Given the description of an element on the screen output the (x, y) to click on. 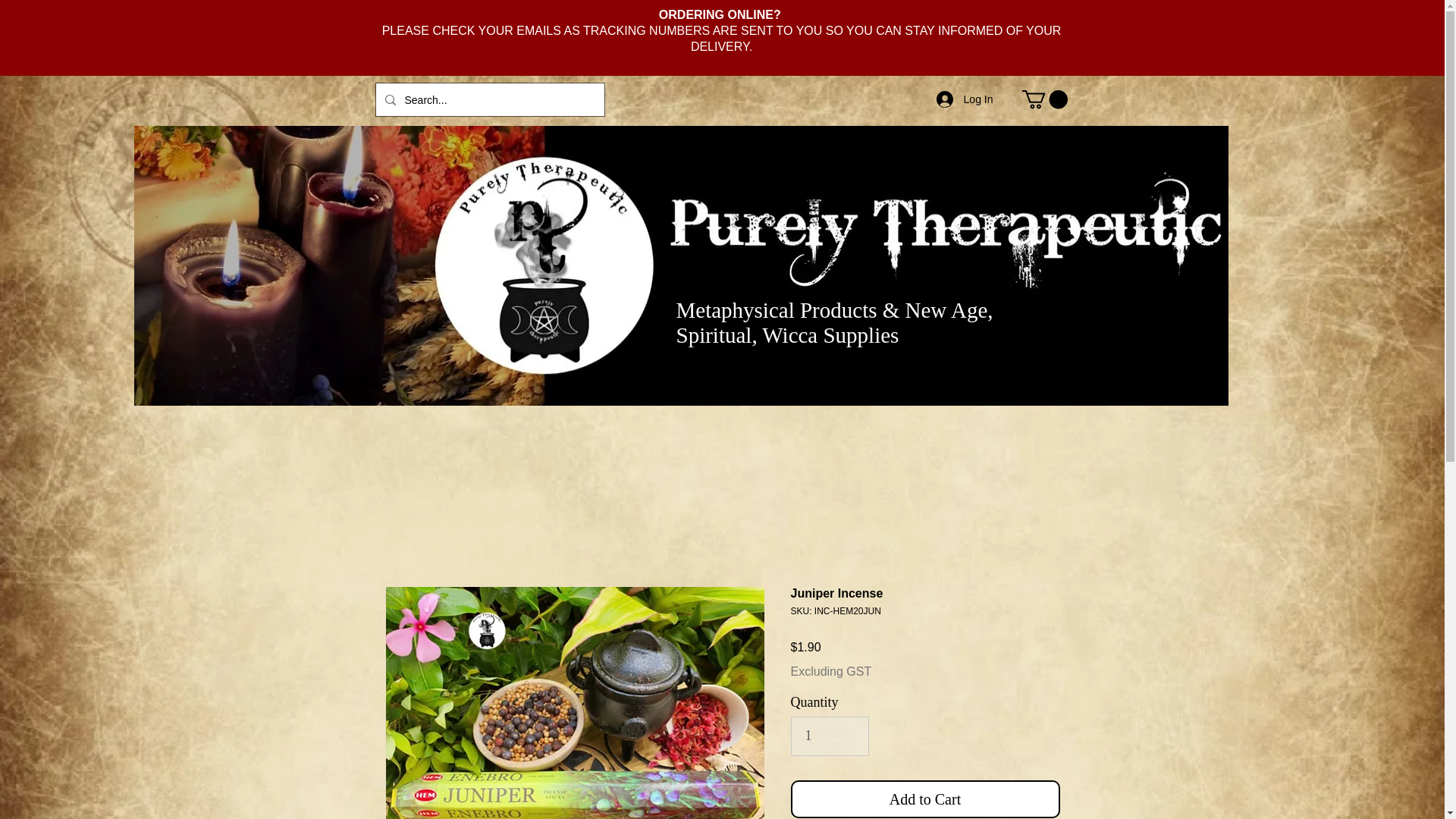
1 (829, 735)
Log In (965, 99)
